Given the description of an element on the screen output the (x, y) to click on. 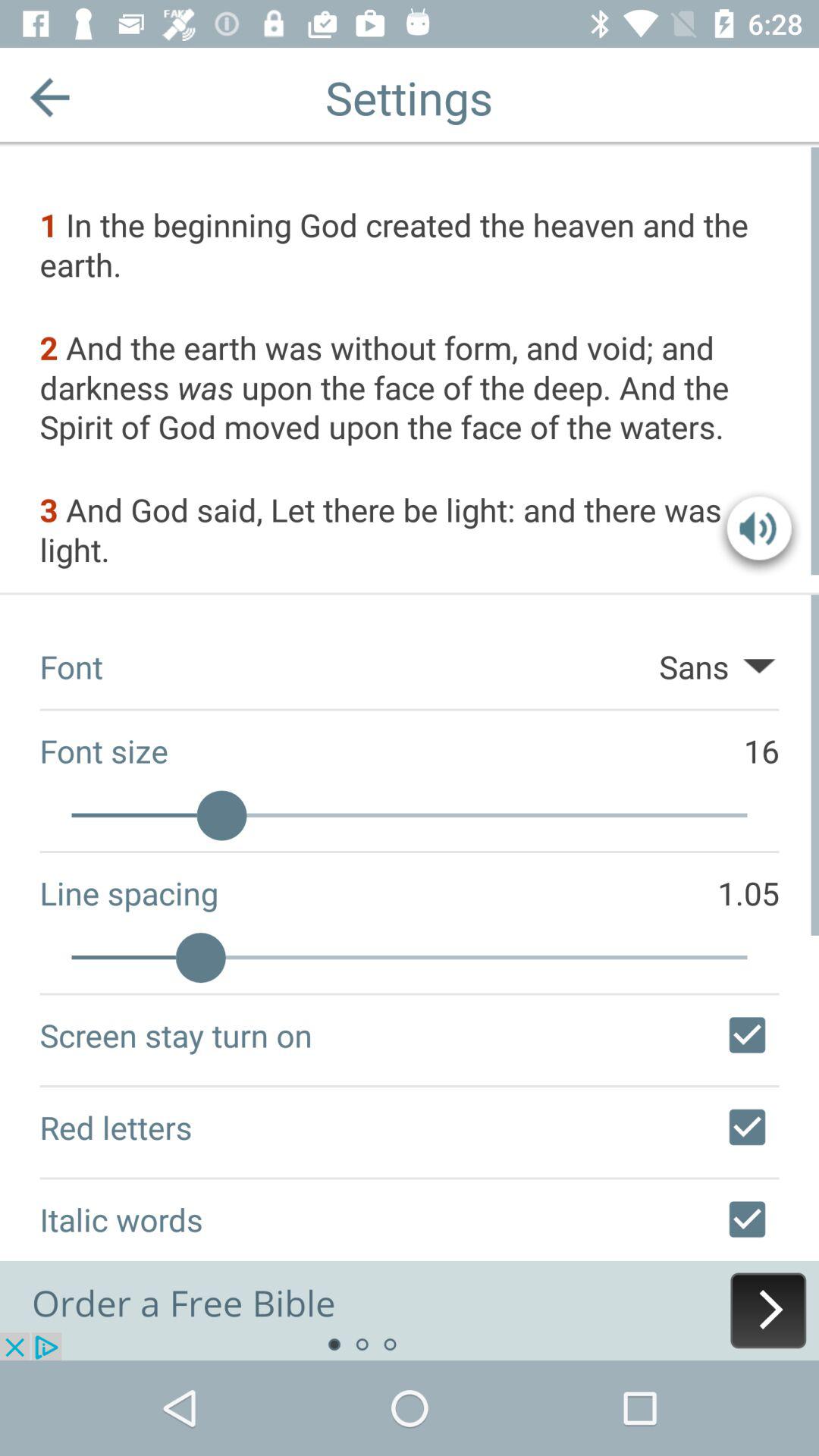
go back (49, 97)
